Given the description of an element on the screen output the (x, y) to click on. 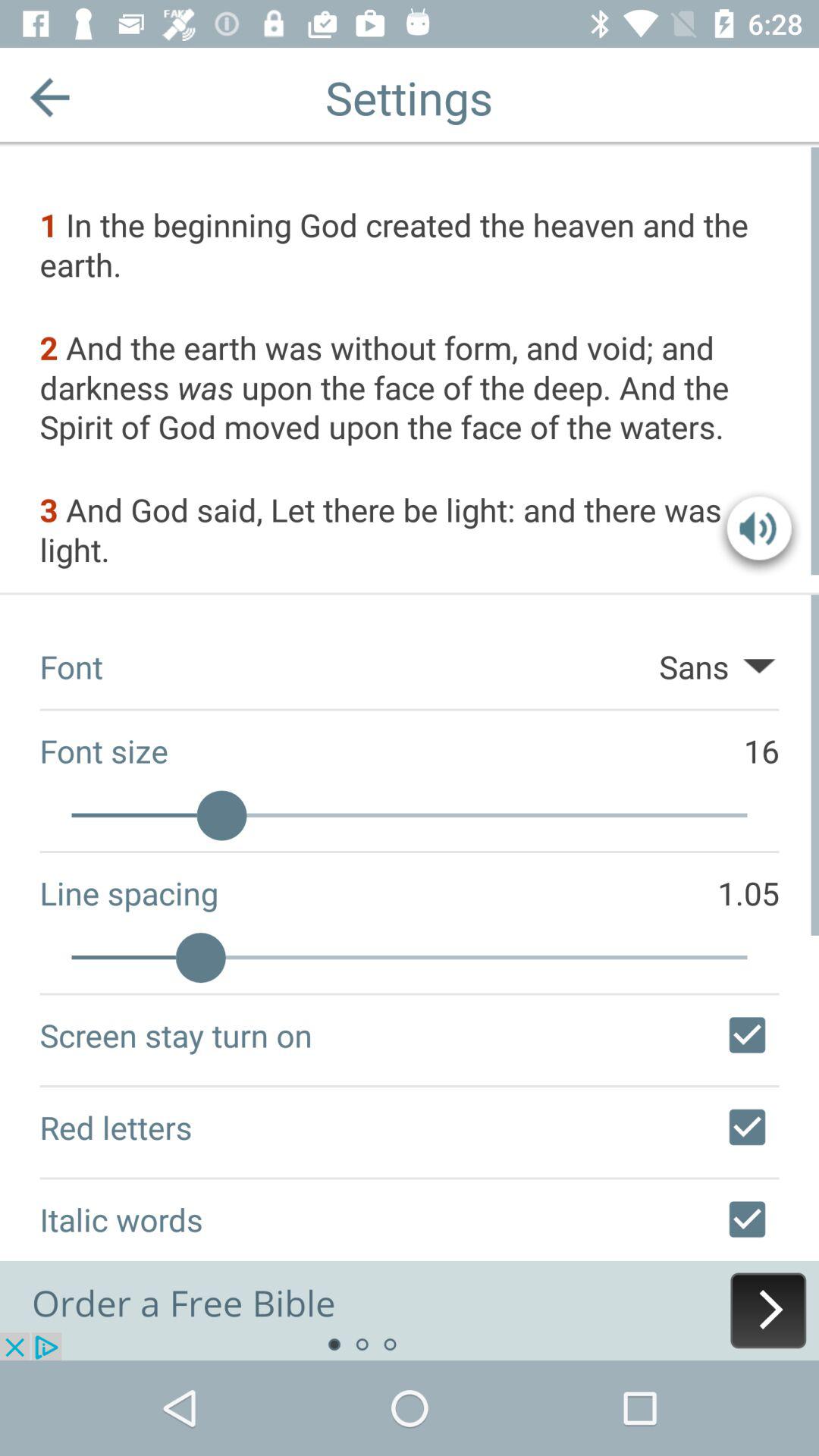
go back (49, 97)
